Given the description of an element on the screen output the (x, y) to click on. 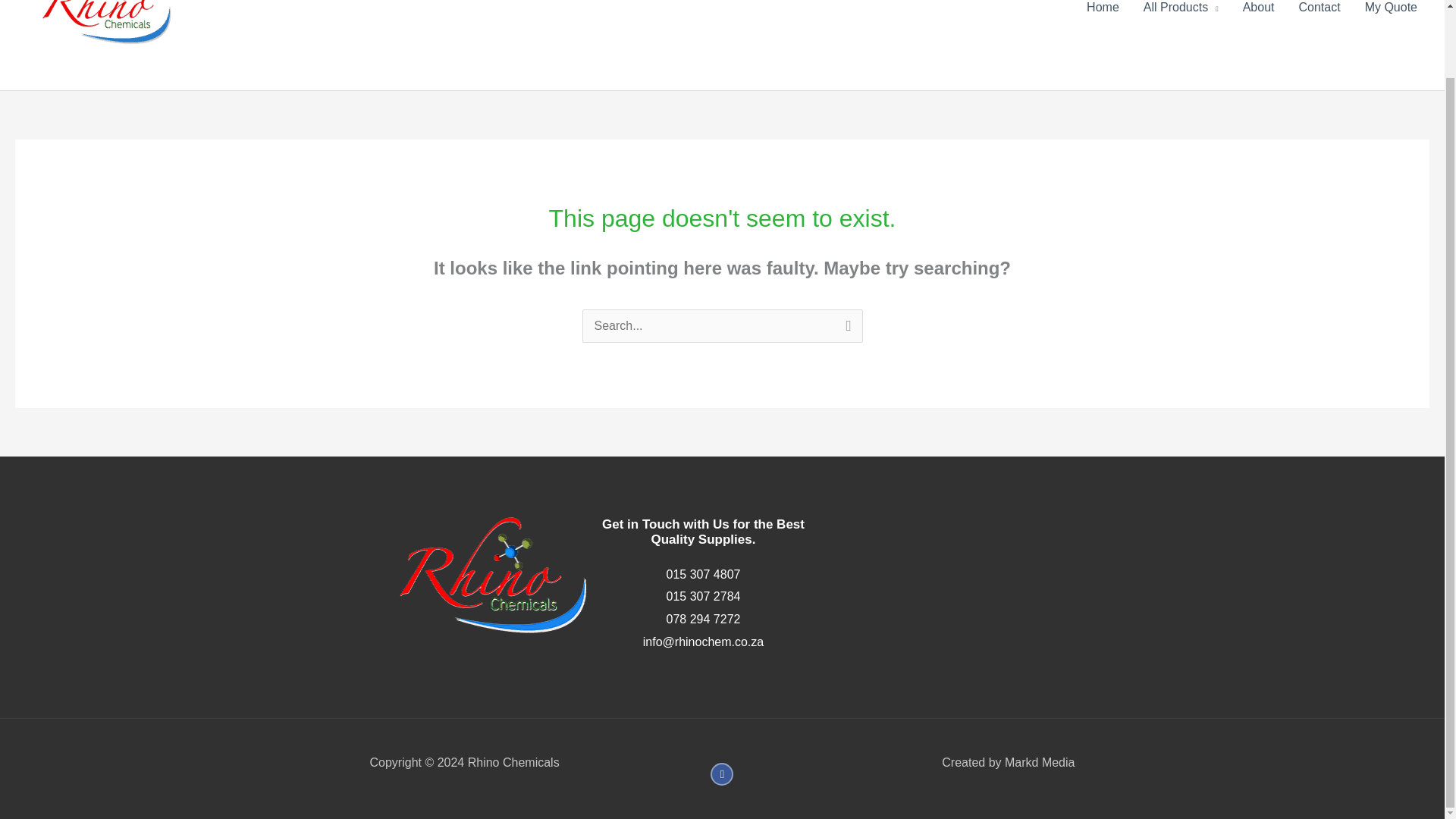
19 Plantation Rd, Tzaneen (963, 580)
Contact (1318, 15)
Home (1102, 15)
Facebook-f (721, 773)
About (1258, 15)
My Quote (1390, 15)
All Products (1180, 15)
